Given the description of an element on the screen output the (x, y) to click on. 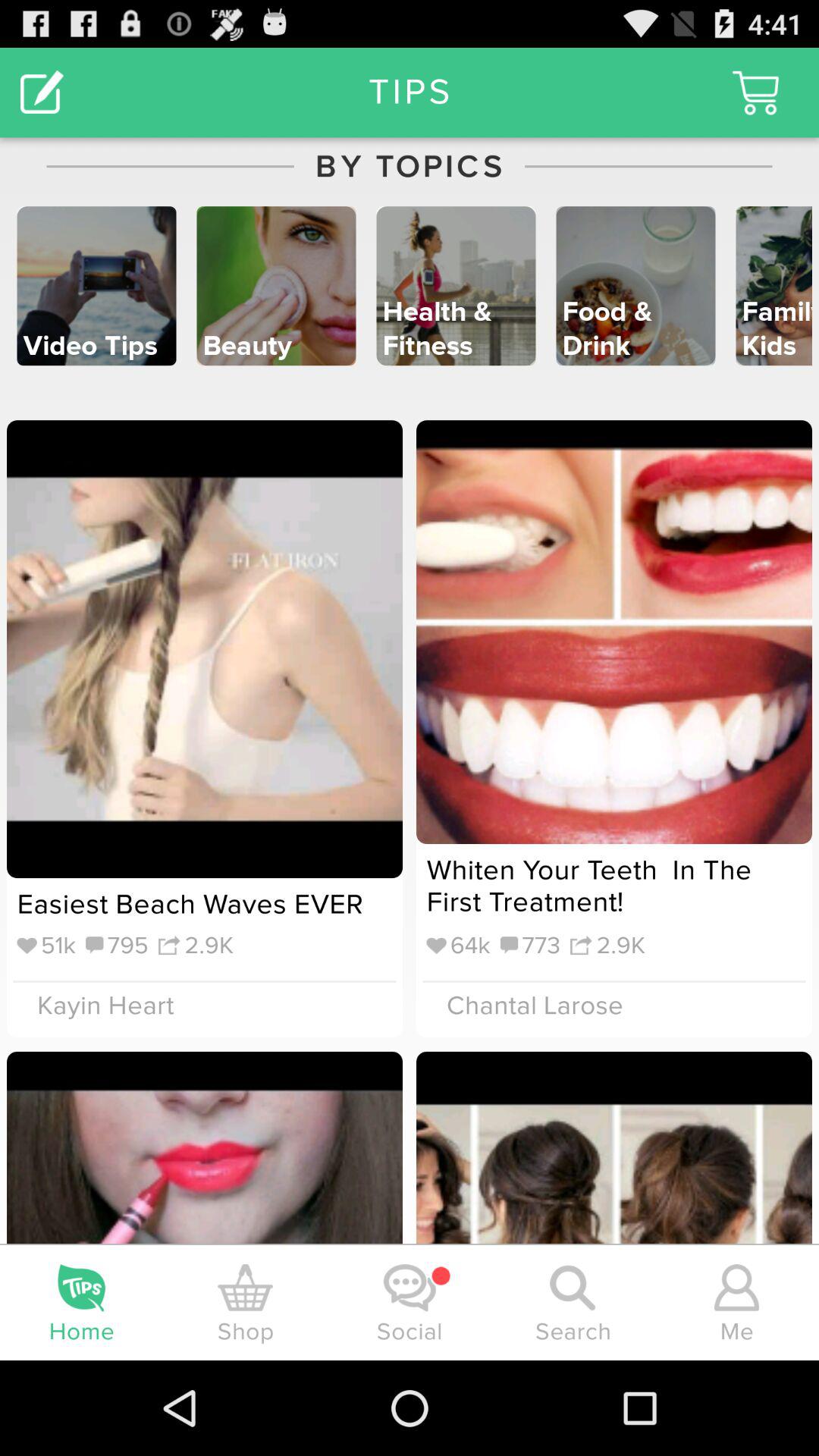
click the item to the left of by topics (42, 92)
